Given the description of an element on the screen output the (x, y) to click on. 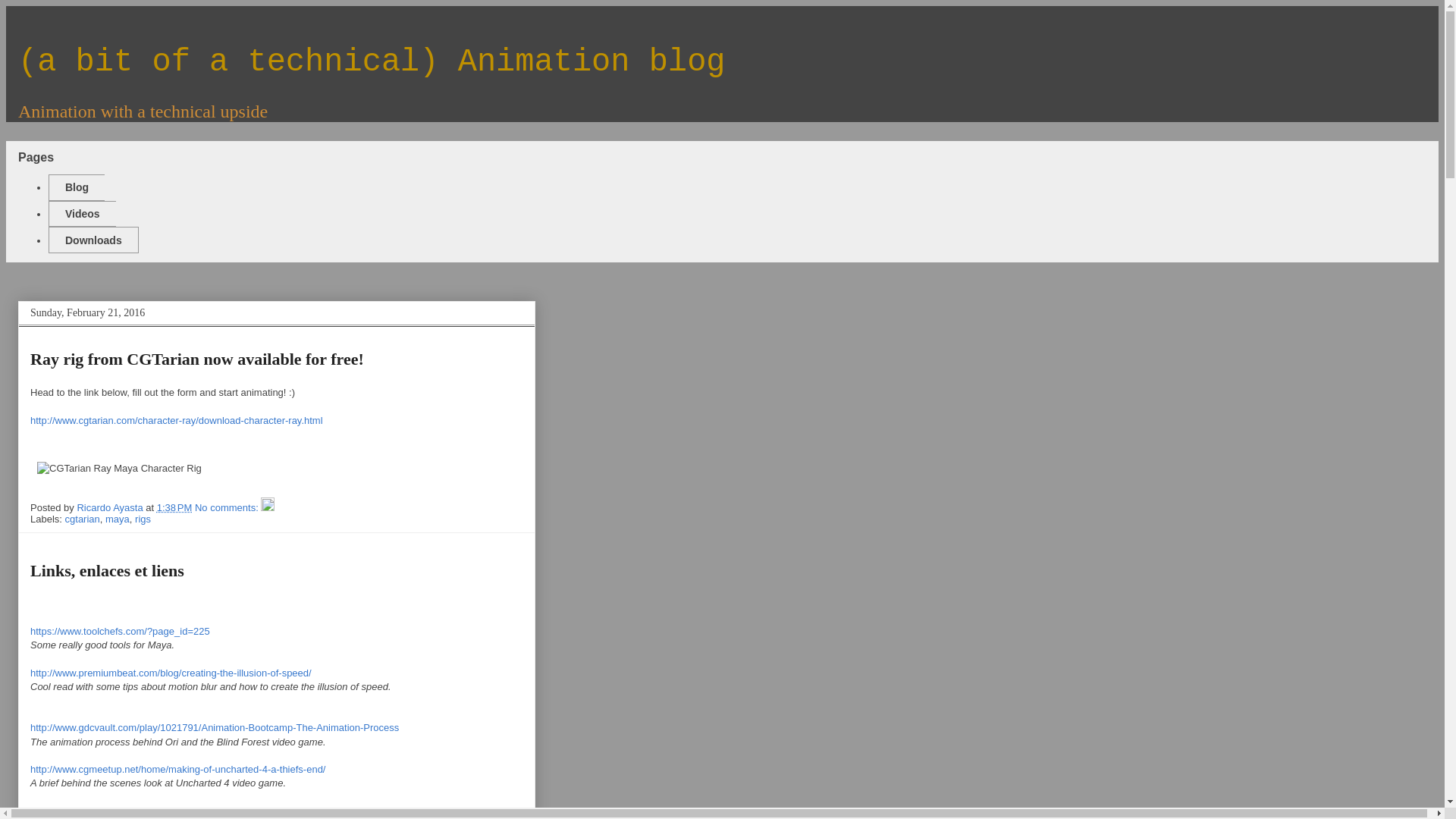
Blog (76, 187)
permanent link (174, 507)
Ray rig from CGTarian now available for free! (197, 358)
maya (116, 518)
Ricardo Ayasta (111, 507)
Videos (82, 213)
cgtarian (82, 518)
author profile (111, 507)
rigs (143, 518)
Edit Post (267, 507)
No comments: (227, 507)
Links, enlaces et liens (107, 570)
Downloads (93, 239)
